Given the description of an element on the screen output the (x, y) to click on. 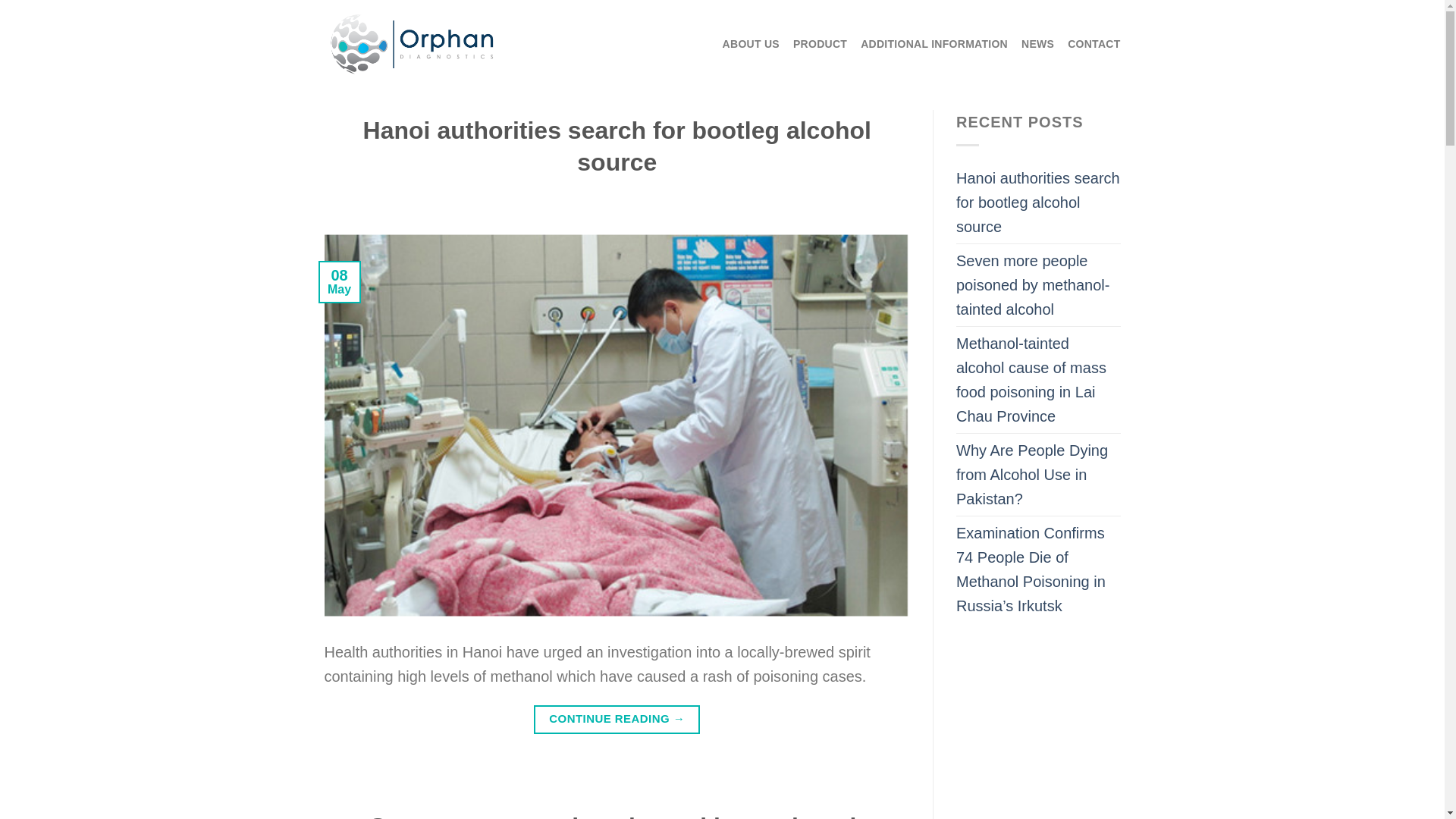
NEWS (1038, 43)
CONTACT (1093, 43)
PRODUCT (820, 43)
Hanoi authorities search for bootleg alcohol source (616, 146)
ABOUT US (750, 43)
Orphan Diagnostics - point-of-care diagnotic products (421, 43)
Seven more people poisoned by methanol-tainted alcohol (616, 816)
ADDITIONAL INFORMATION (933, 43)
